Given the description of an element on the screen output the (x, y) to click on. 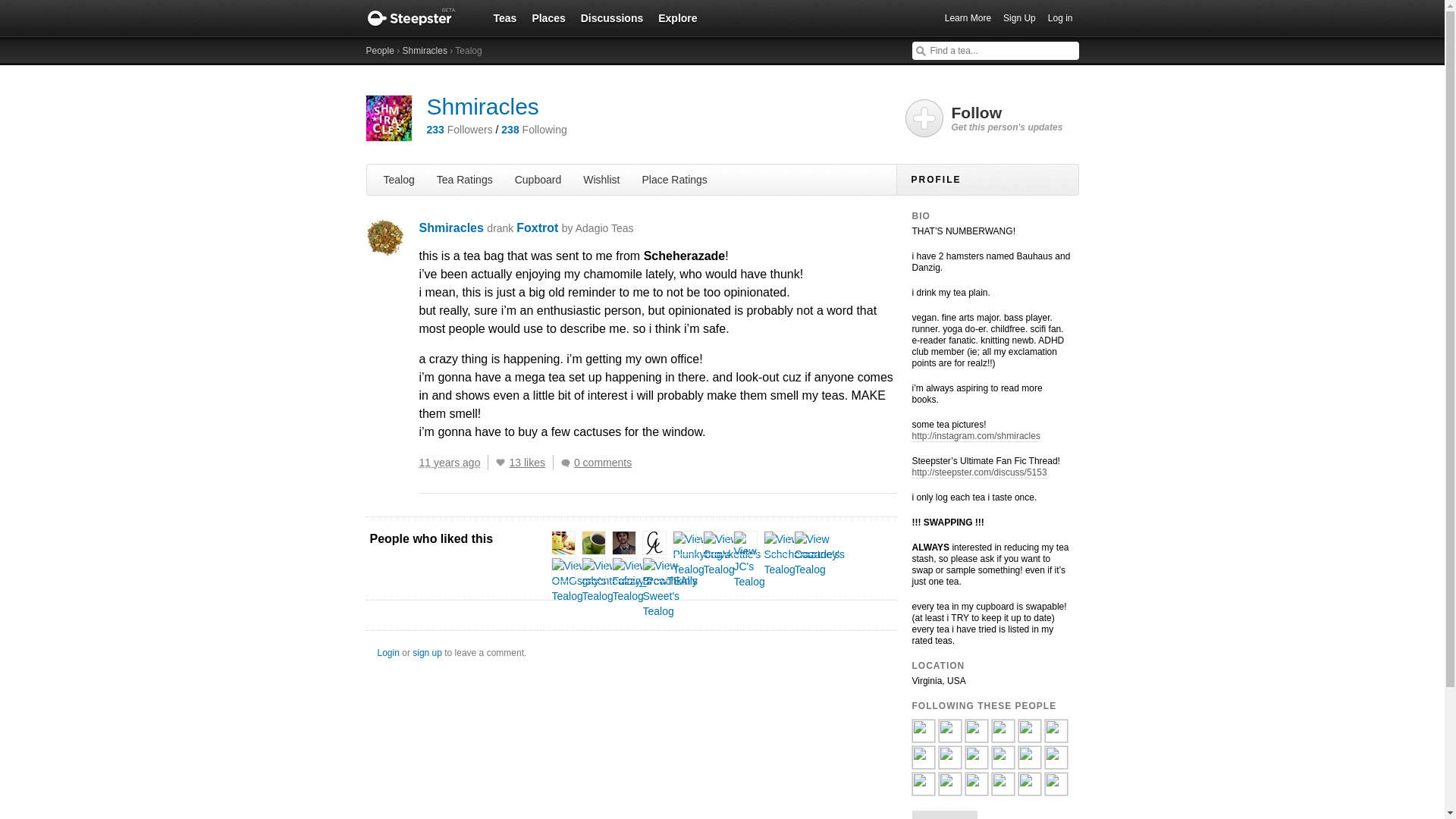
View OMGsrsly's Tealog (579, 580)
People (379, 50)
2013-10-02T17:49:34Z (449, 462)
View gmathis's Tealog (563, 542)
Shmiracles (424, 50)
Steepster (418, 18)
Shmiracles (482, 106)
View Courtney's Tealog (819, 554)
0 comments (599, 462)
Tealog (398, 179)
